Given the description of an element on the screen output the (x, y) to click on. 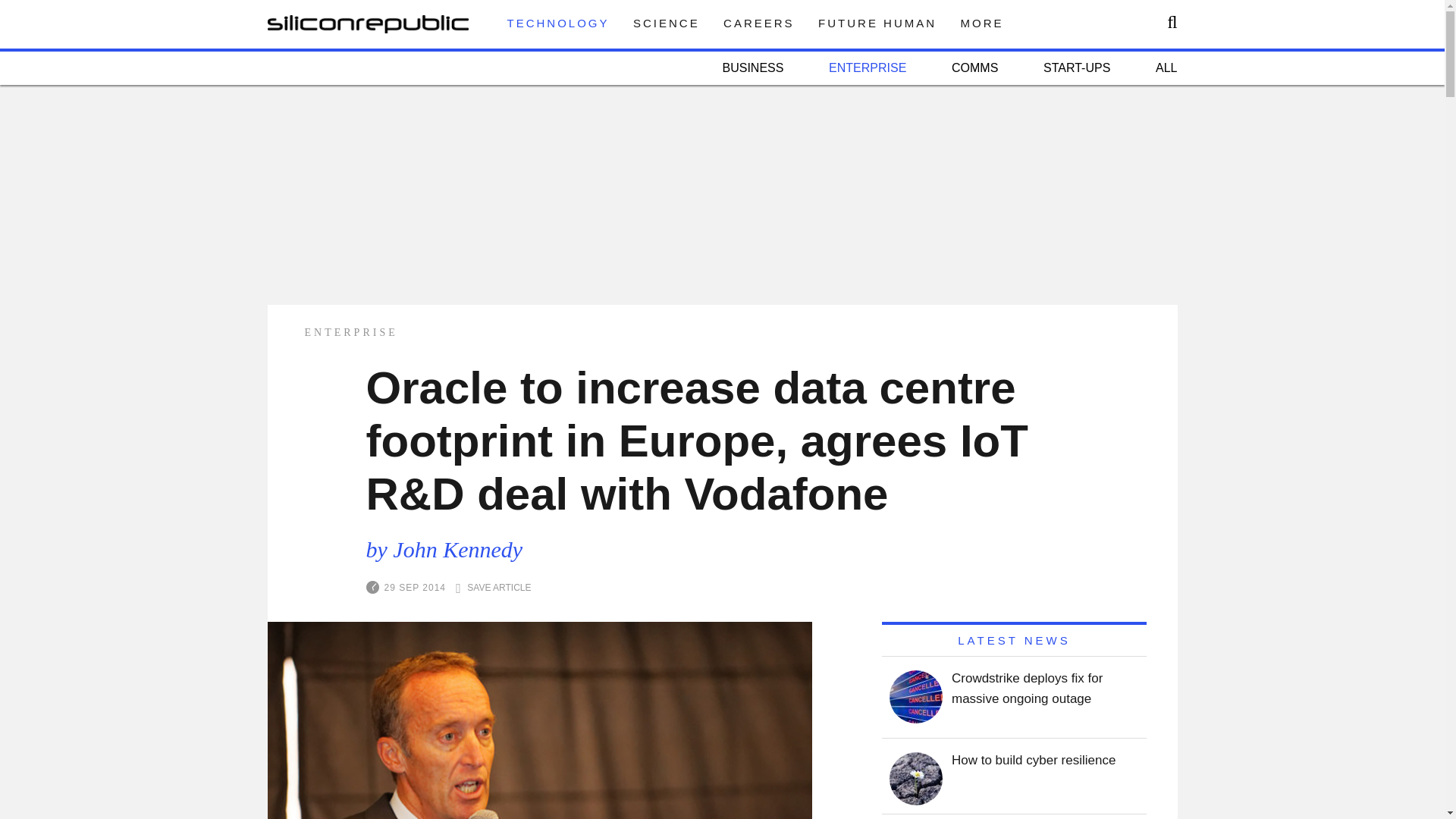
TECHNOLOGY (557, 22)
SCIENCE (666, 22)
